Given the description of an element on the screen output the (x, y) to click on. 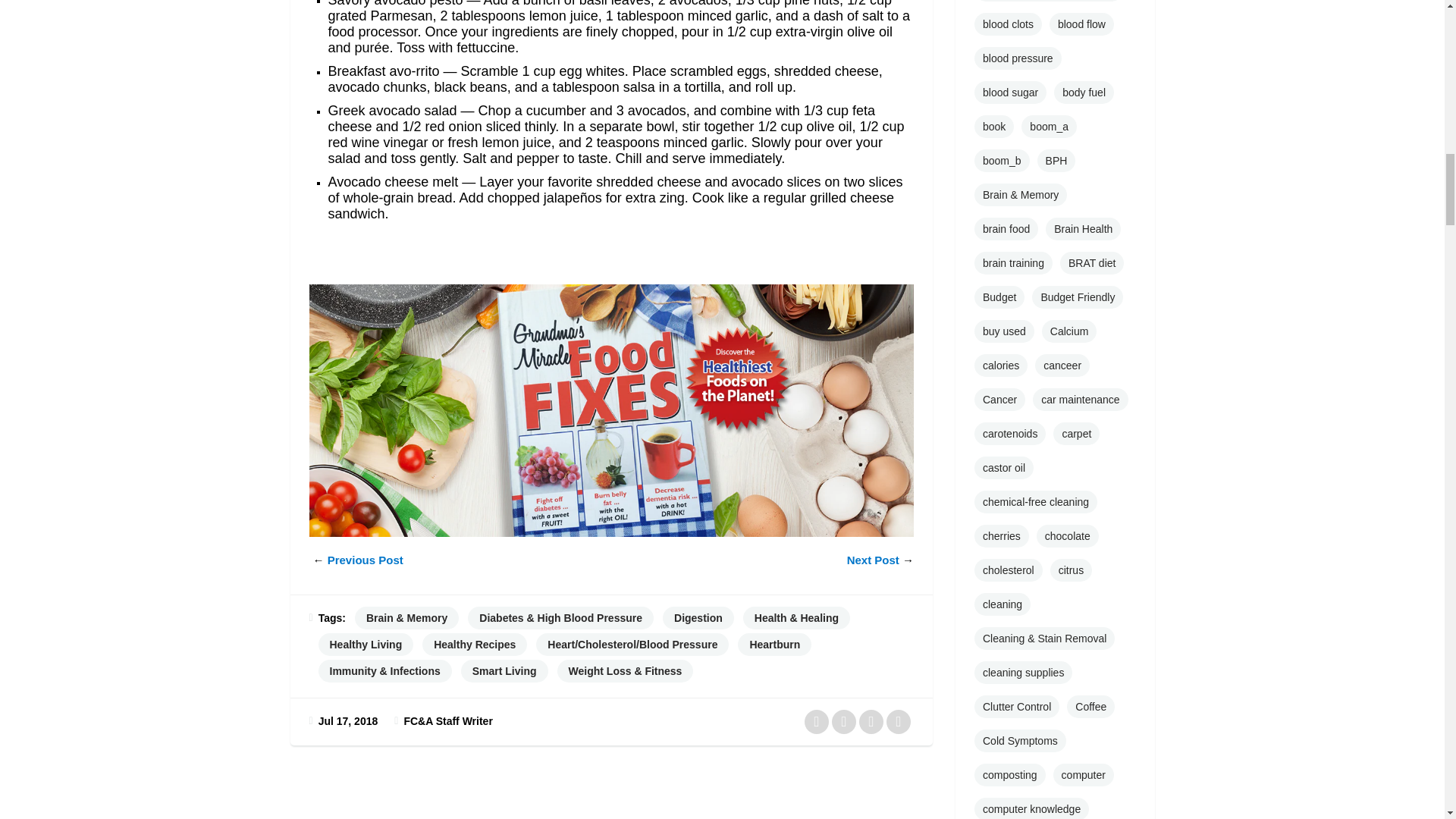
Healthy Recipes (474, 644)
Next Post (873, 559)
Healthy Living (365, 644)
Smart Living (504, 671)
Digestion (697, 617)
Previous Post (365, 559)
Heartburn (774, 644)
